Given the description of an element on the screen output the (x, y) to click on. 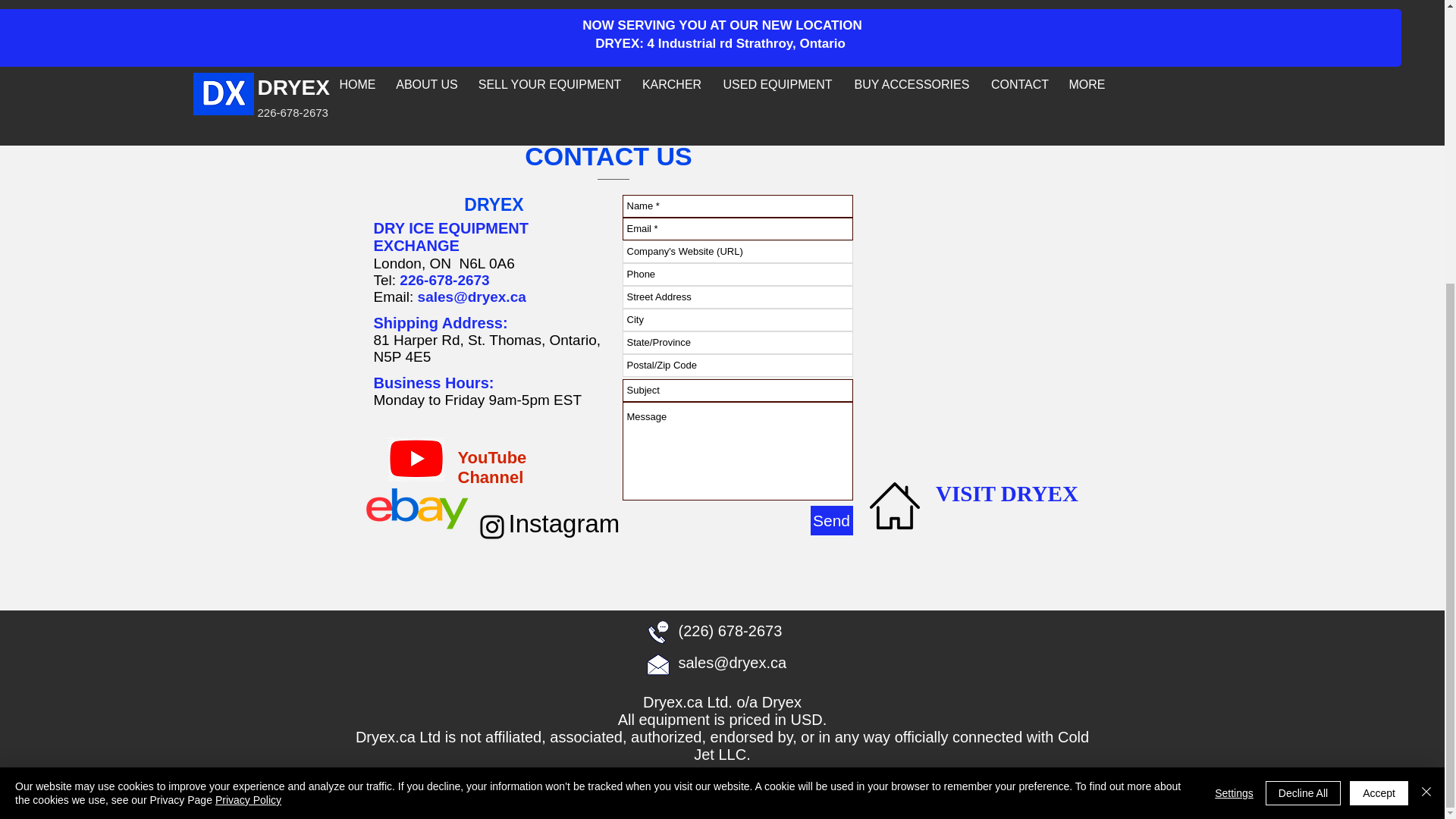
sales (435, 296)
VISIT (965, 493)
Privacy Policy (248, 375)
Accept (1378, 368)
DRYEX (1036, 493)
Instagram (564, 523)
Send (830, 520)
Decline All (1302, 368)
Newsletter Subscribe (734, 99)
YouTube Channel (492, 466)
